Given the description of an element on the screen output the (x, y) to click on. 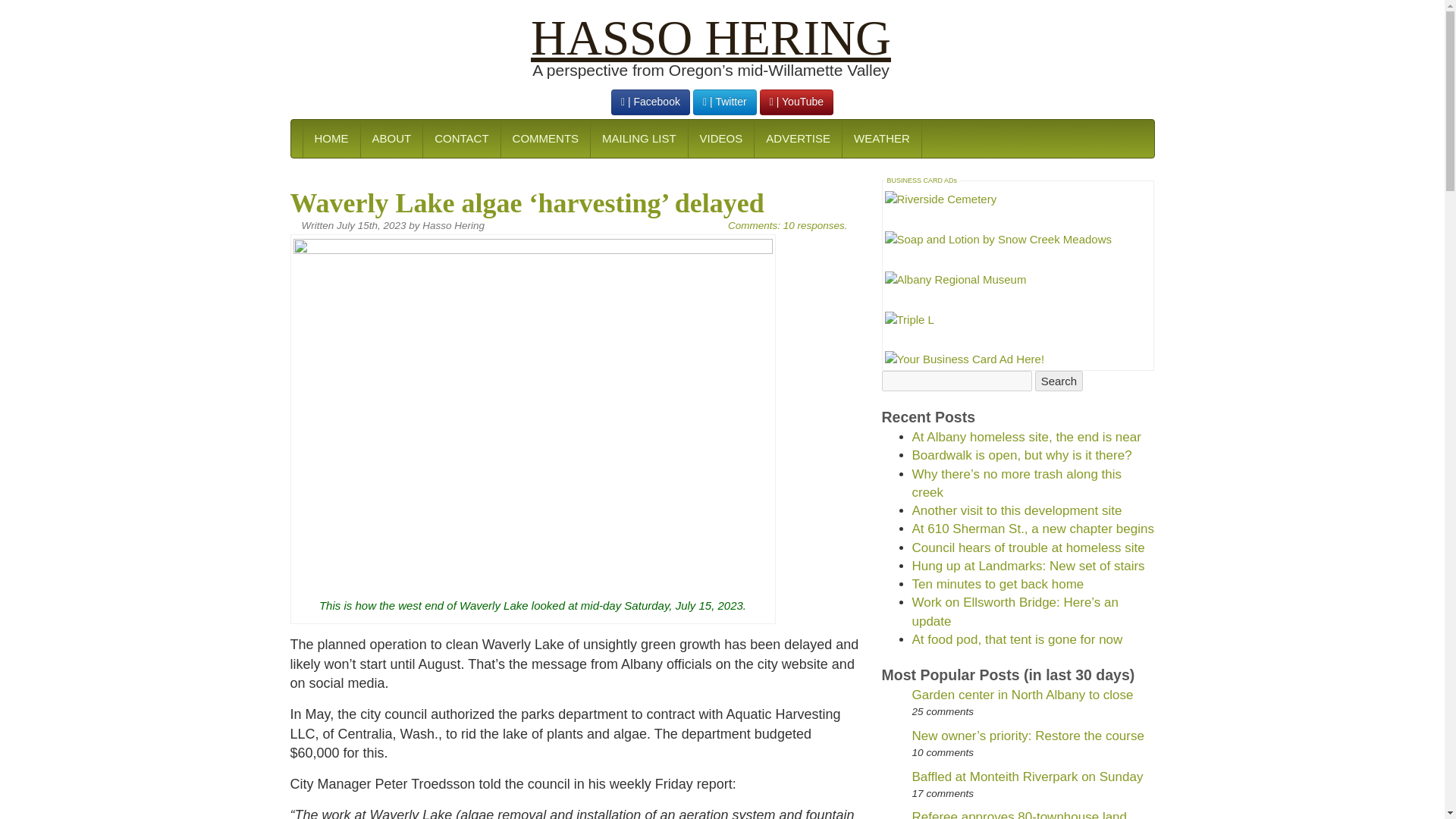
ABOUT (390, 138)
MAILING LIST (638, 138)
Search (1059, 381)
CONTACT (460, 138)
WEATHER (881, 138)
VIDEOS (720, 138)
ADVERTISE (797, 138)
Hasso Hering (711, 37)
Search (1059, 381)
COMMENTS (545, 138)
Comments: 10 responses. (787, 225)
HOME (330, 138)
HASSO HERING (711, 37)
BUSINESS CARD ADs (922, 180)
